Given the description of an element on the screen output the (x, y) to click on. 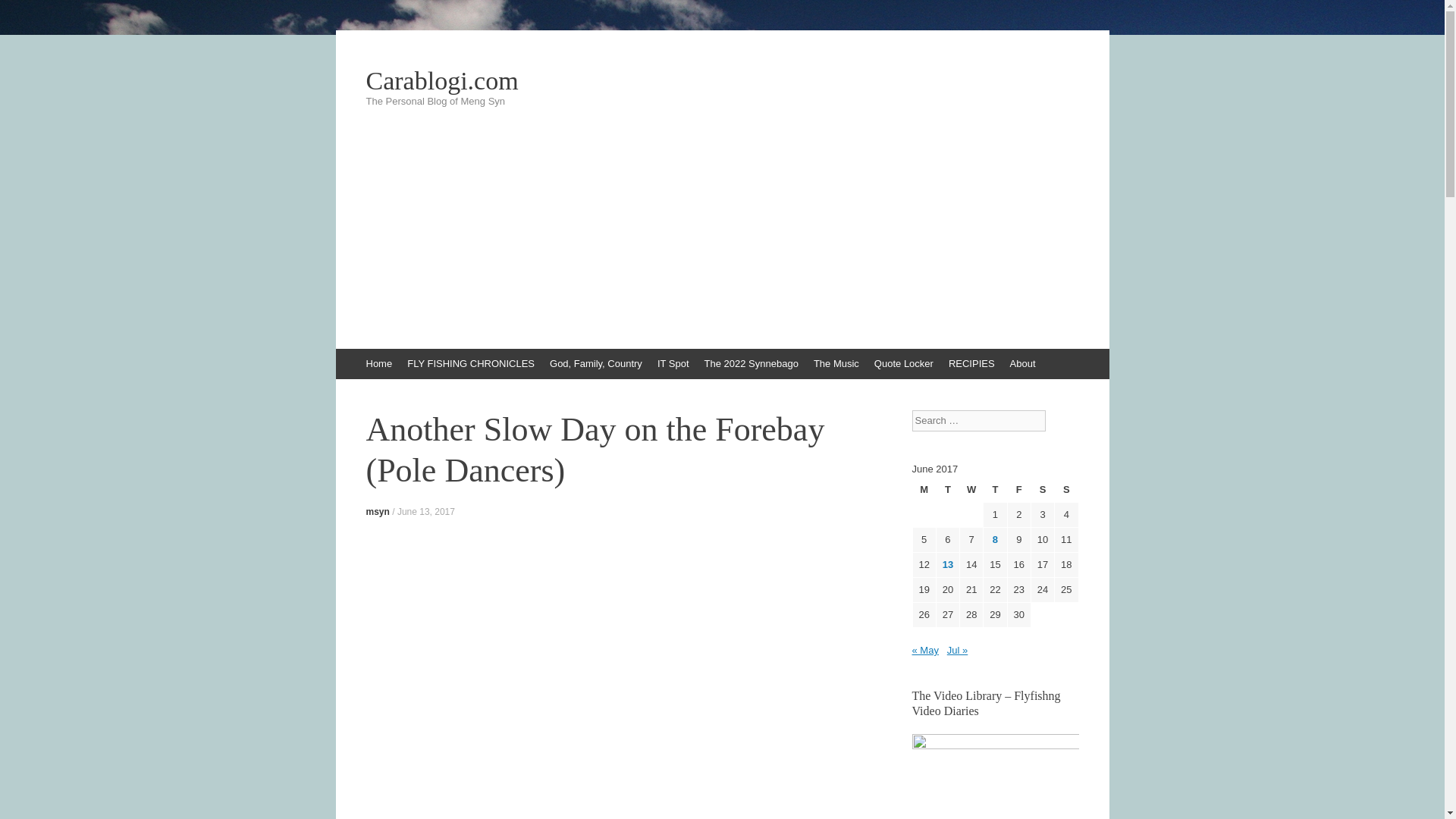
Sunday (1065, 489)
Carablogi.com (721, 80)
Saturday (1042, 489)
Carablogi.com (721, 80)
Thursday (995, 489)
Tuesday (947, 489)
Wednesday (970, 489)
Home (378, 363)
God, Family, Country (595, 363)
Friday (1018, 489)
